Given the description of an element on the screen output the (x, y) to click on. 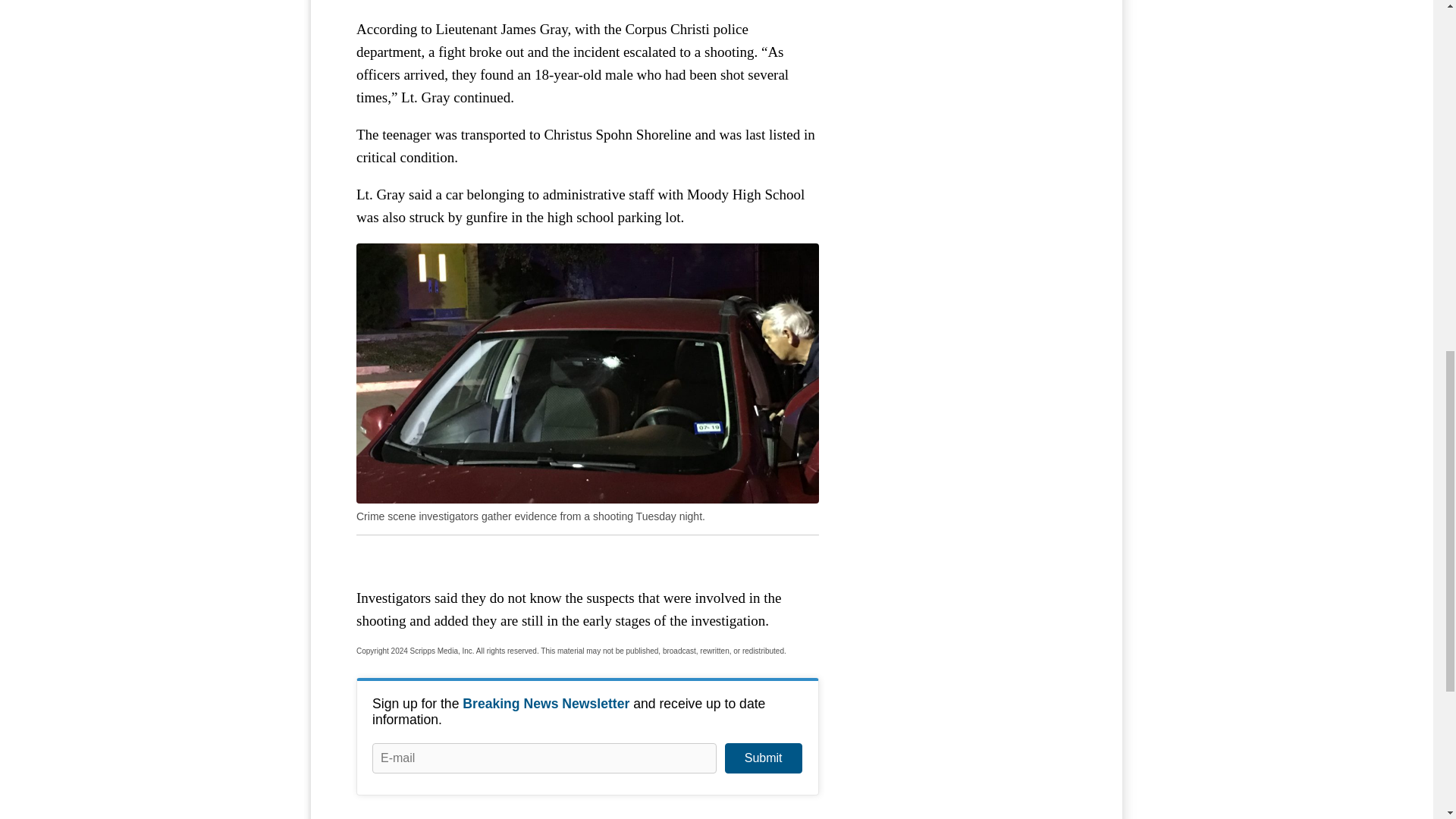
Submit (763, 757)
